Given the description of an element on the screen output the (x, y) to click on. 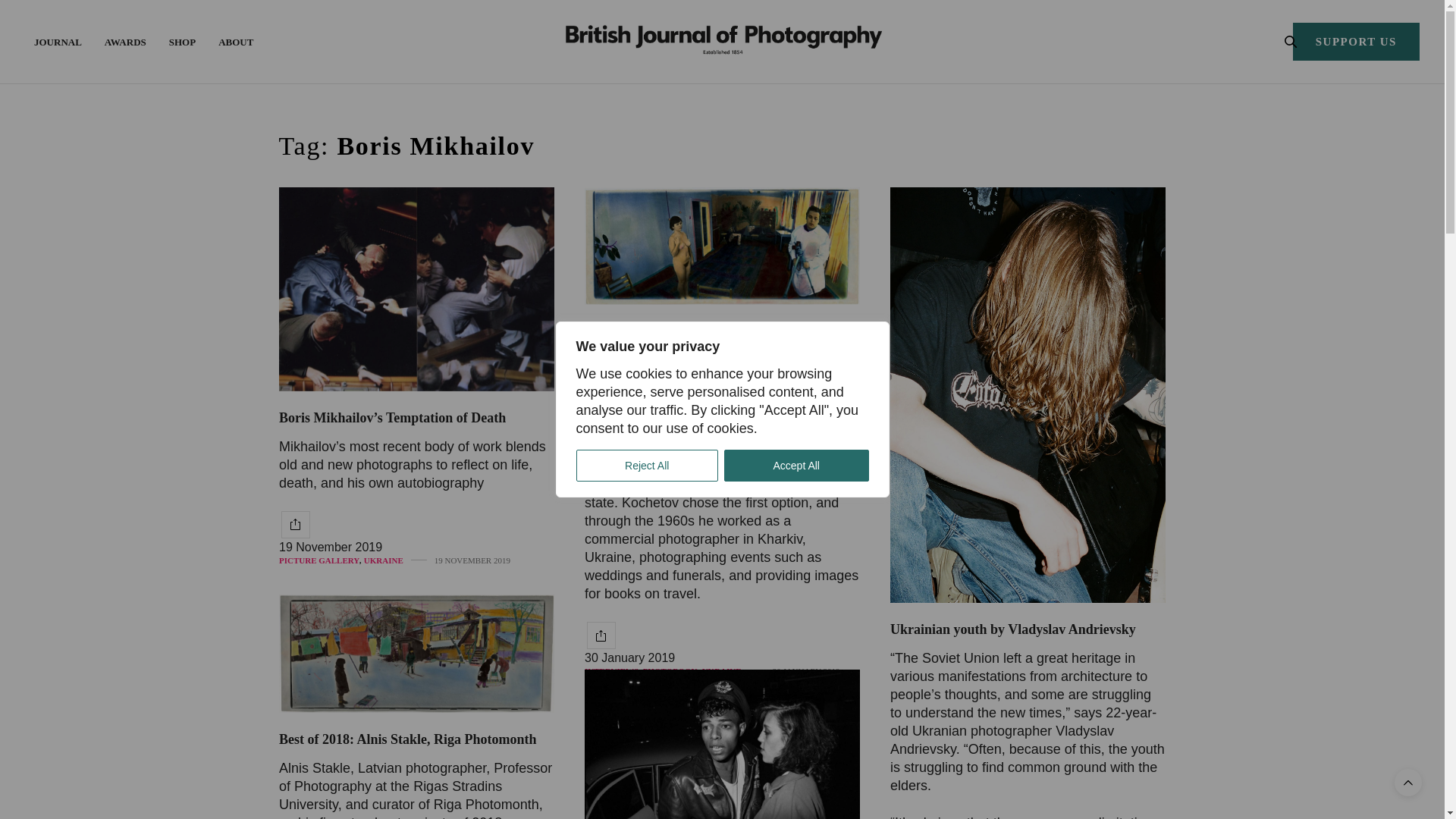
Painting Photography: Victor and Sergey Kochetov (721, 245)
ABOUT (235, 41)
1854 Photography (722, 41)
Best of 2018: Alnis Stakle, Riga Photomonth (408, 739)
JOURNAL (57, 41)
Painting Photography: Victor and Sergey Kochetov (704, 338)
Best of 2018: Alnis Stakle, Riga Photomonth (416, 653)
Ukrainian youth by Vladyslav Andrievsky (1012, 629)
Accept All (796, 465)
Reject All (646, 465)
AWARDS (125, 41)
SUPPORT US (1356, 41)
